Given the description of an element on the screen output the (x, y) to click on. 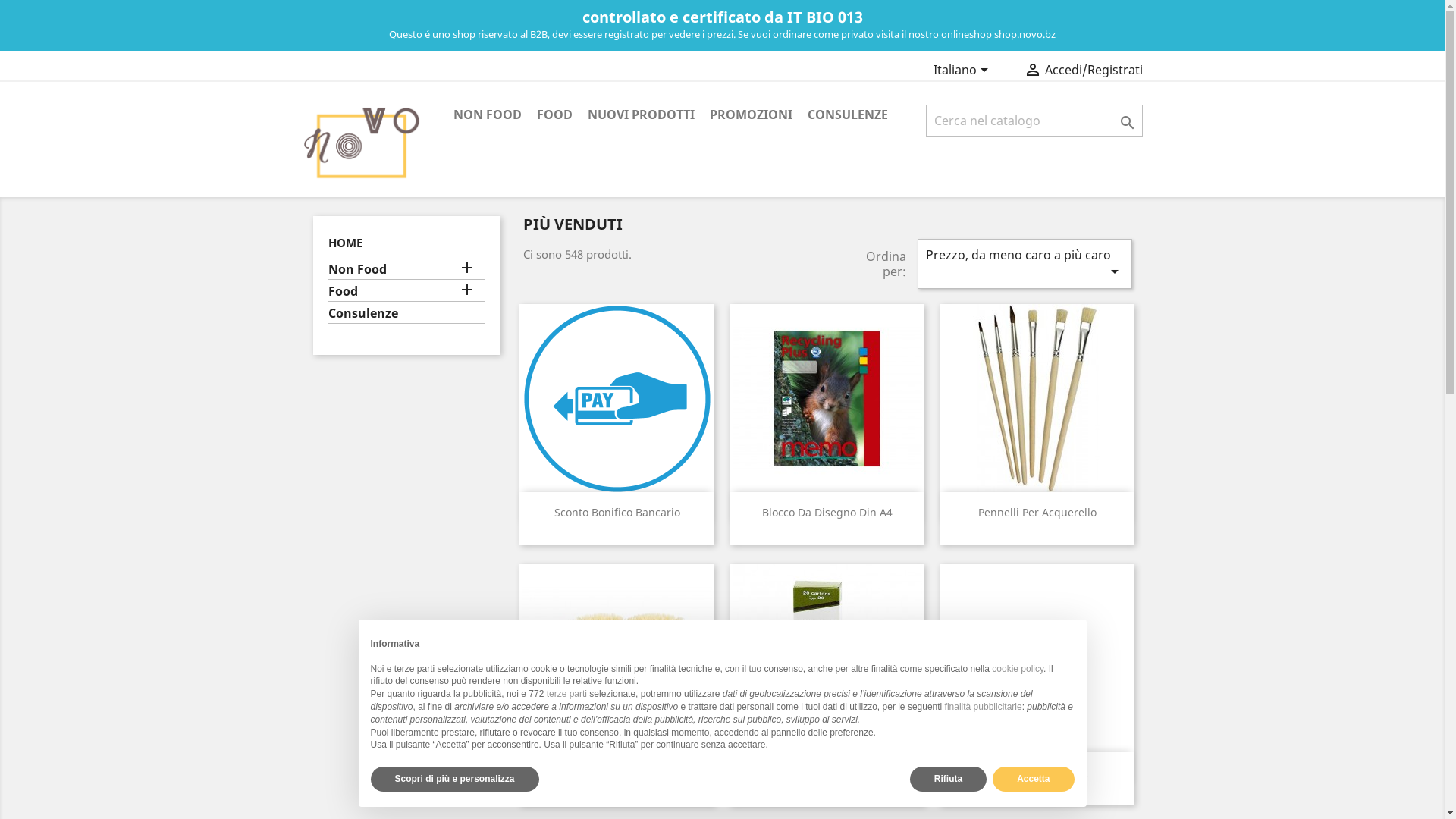
Rifiuta Element type: text (948, 778)
PROMOZIONI Element type: text (751, 115)
cookie policy Element type: text (1017, 668)
Consulenze Element type: text (406, 314)
CONSULENZE Element type: text (846, 115)
Blocco Da Disegno Din A4 Element type: text (826, 512)
Teste Di Ricambio Per... Element type: text (616, 772)
NON FOOD Element type: text (487, 115)
HOME Element type: text (344, 242)
FOOD Element type: text (554, 115)
Food Element type: text (406, 292)
terze parti Element type: text (566, 693)
NUOVI PRODOTTI Element type: text (640, 115)
Non Food Element type: text (406, 270)
Stuzzicadenti 150pz Element type: text (1036, 772)
shop.novo.bz Element type: text (1024, 33)
Lamette Per Rasoio Element type: text (826, 772)
Pennelli Per Acquerello Element type: text (1037, 512)
Sconto Bonifico Bancario Element type: text (616, 512)
Accetta Element type: text (1032, 778)
